Given the description of an element on the screen output the (x, y) to click on. 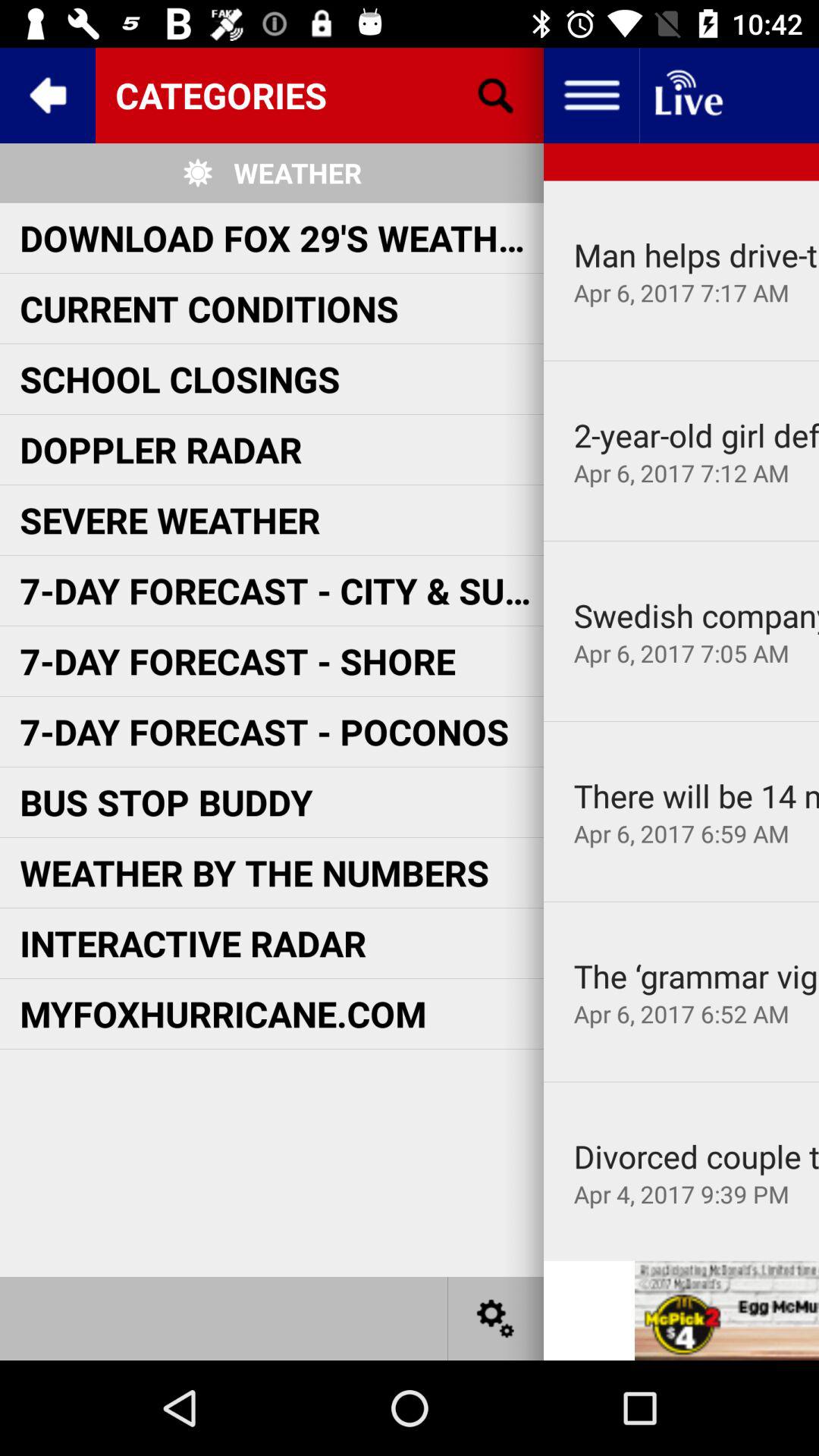
click the icon above the 7 day forecast (681, 540)
